Given the description of an element on the screen output the (x, y) to click on. 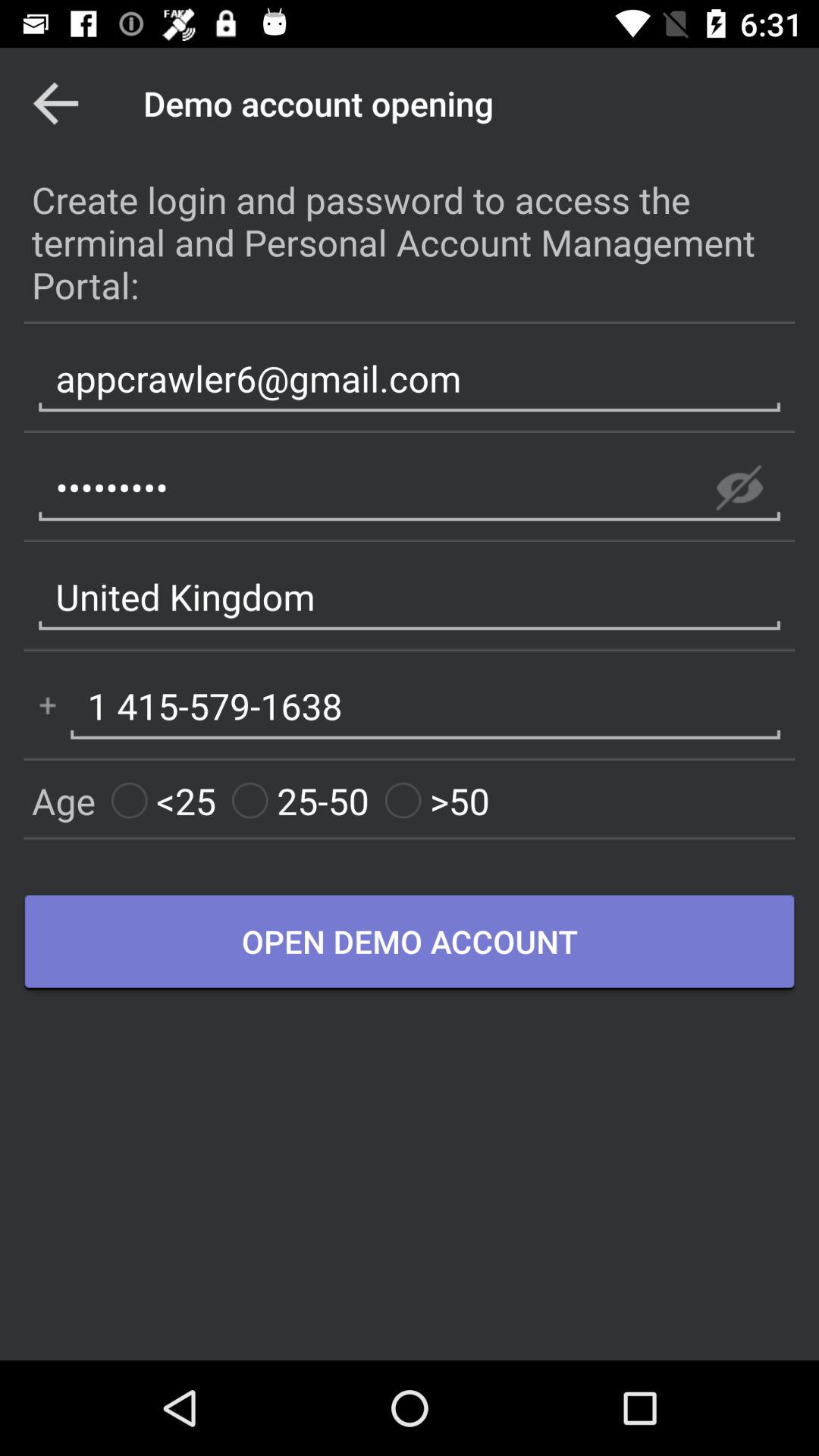
show password (739, 487)
